Given the description of an element on the screen output the (x, y) to click on. 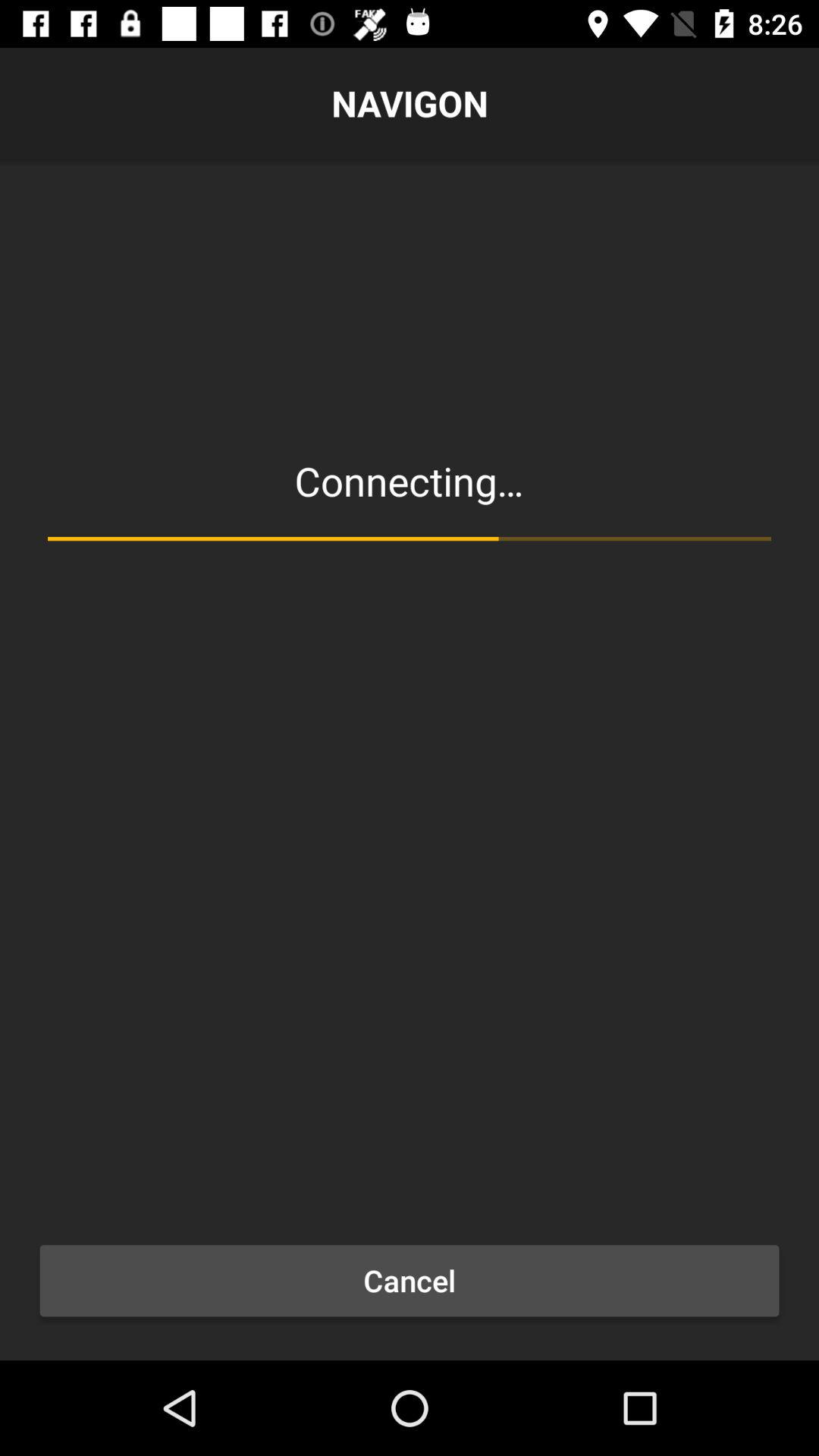
turn on the cancel (409, 1280)
